Given the description of an element on the screen output the (x, y) to click on. 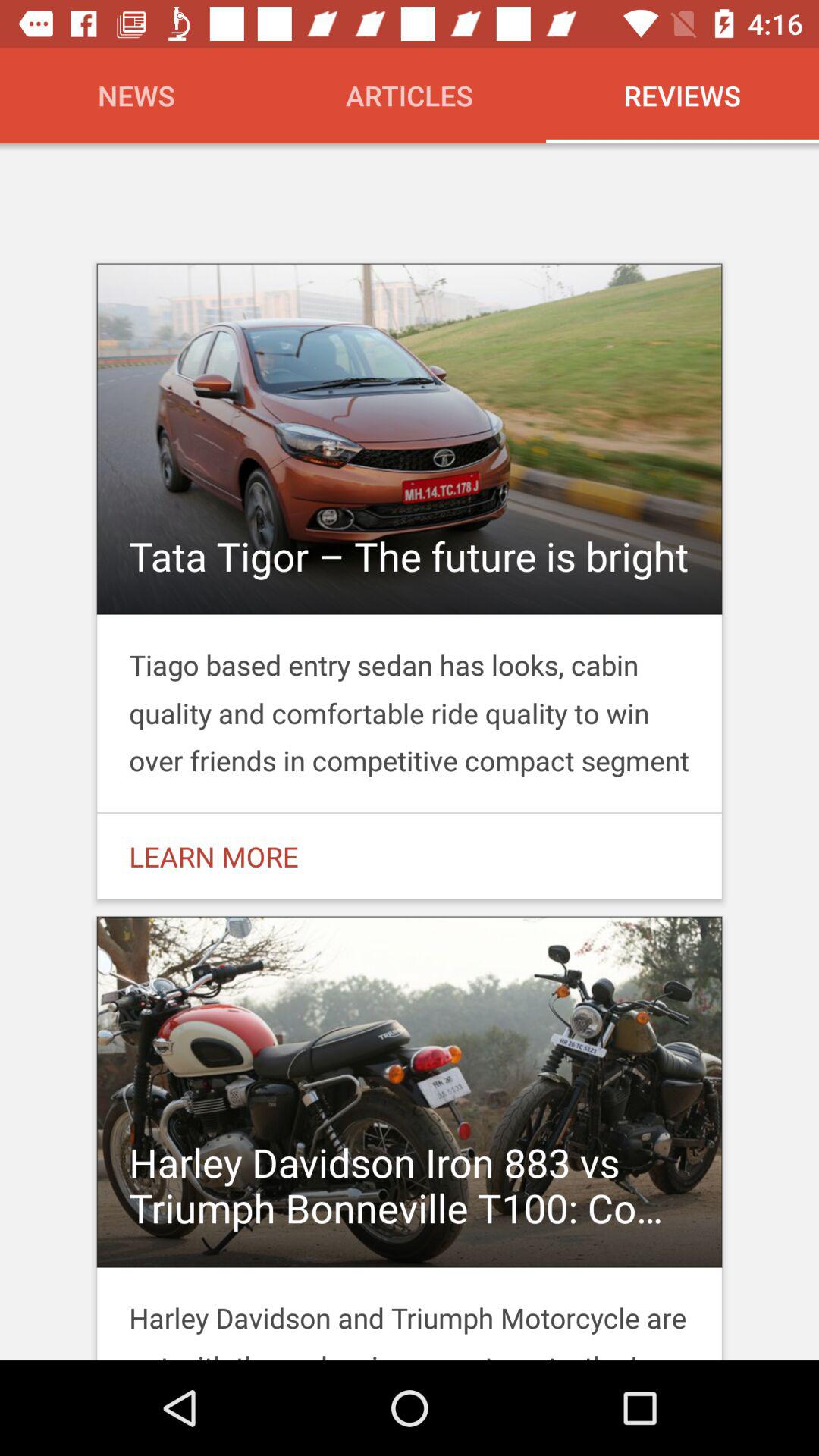
select the 1st image on the page (409, 580)
click on the first image (409, 475)
select the image which is below learn more (409, 1133)
select the image above the content (409, 438)
